Given the description of an element on the screen output the (x, y) to click on. 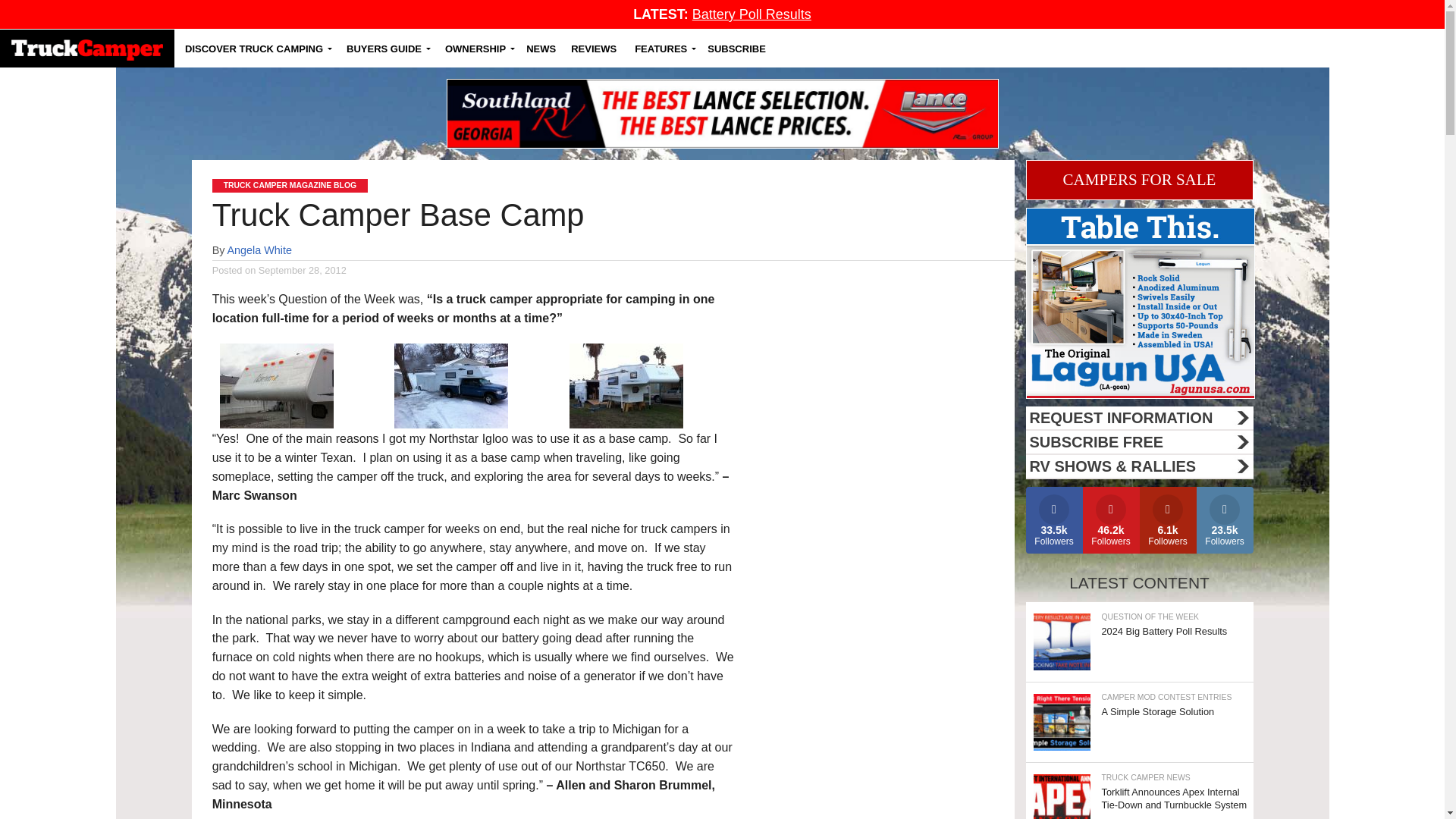
Posts by Angela White (259, 250)
